Given the description of an element on the screen output the (x, y) to click on. 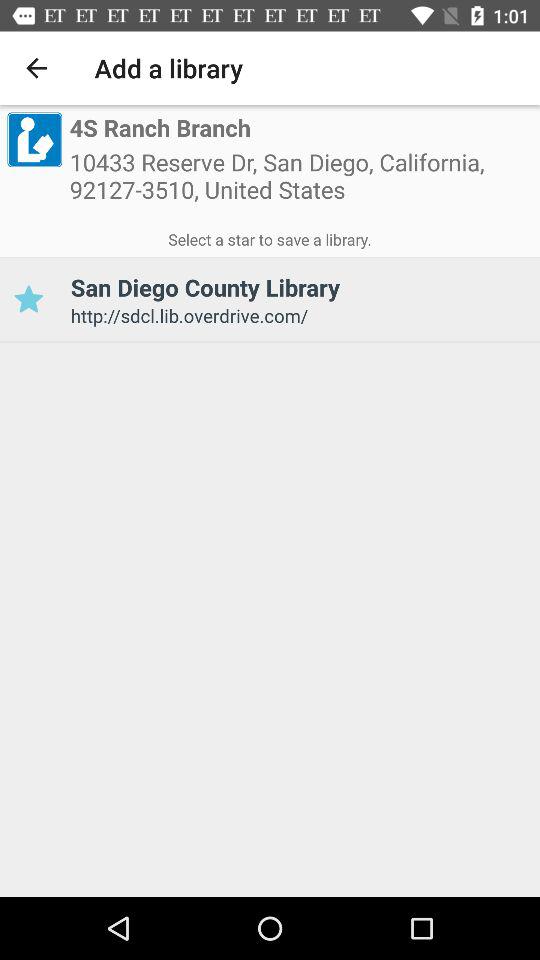
select the icon next to add a library icon (36, 68)
